Given the description of an element on the screen output the (x, y) to click on. 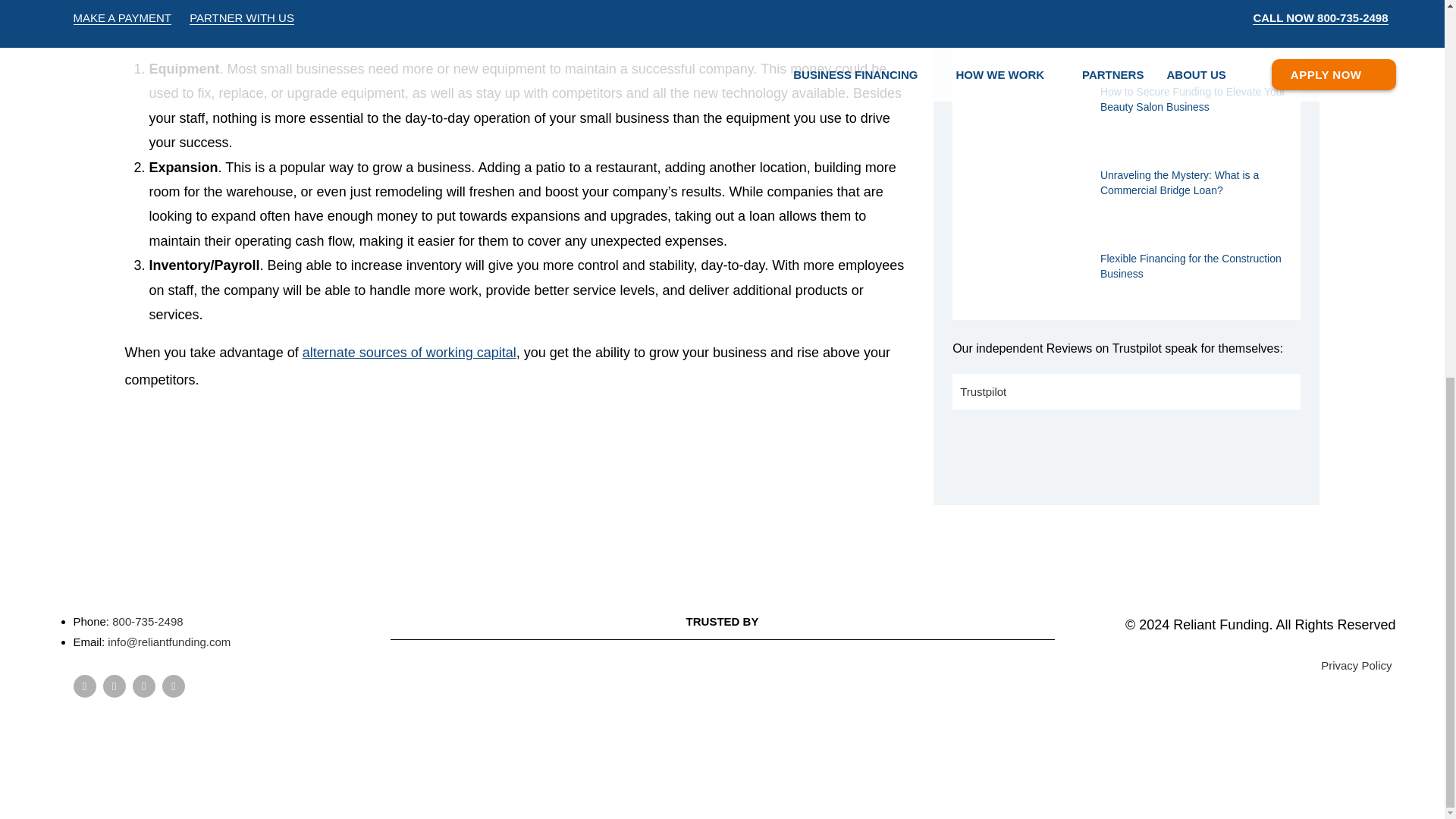
alternate sources of working capital (409, 352)
alternate sources of working capital (409, 352)
